Given the description of an element on the screen output the (x, y) to click on. 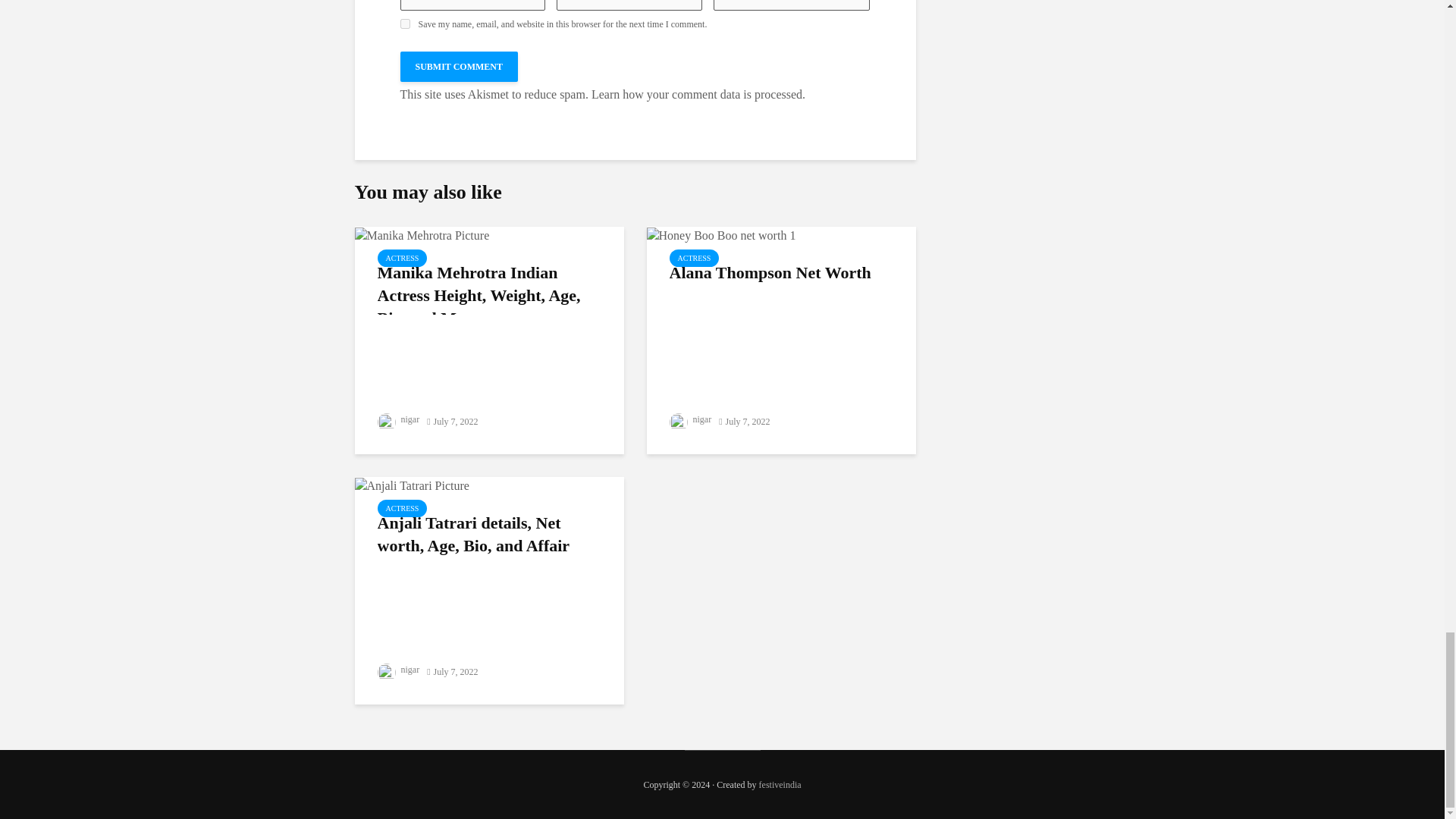
yes (405, 23)
Anjali Tatrari details, Net worth, Age, Bio, and Affair (411, 484)
Submit Comment (459, 66)
Alana Thompson Net Worth (720, 234)
